Given the description of an element on the screen output the (x, y) to click on. 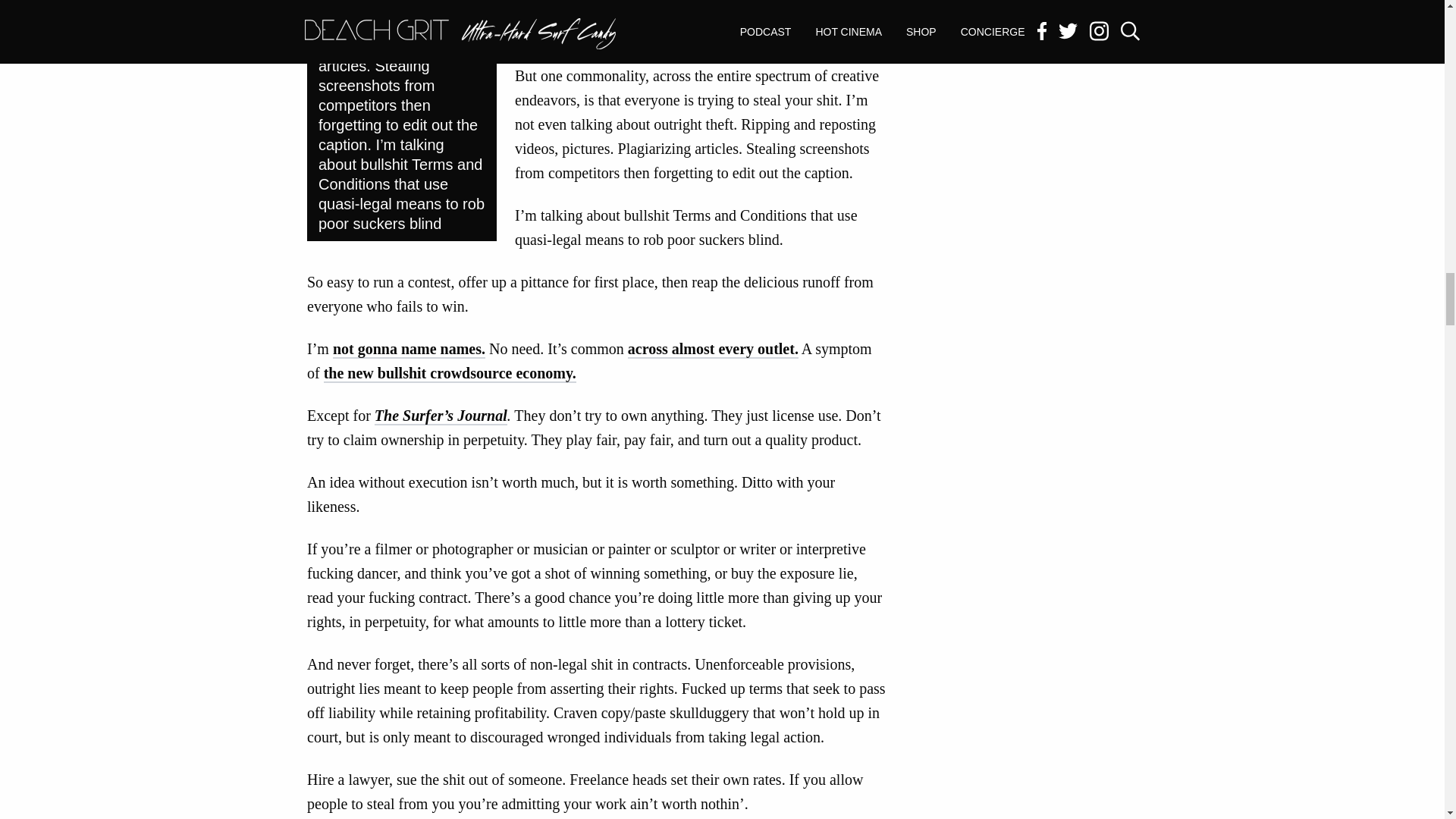
the new bullshit crowdsource economy. (449, 373)
not gonna name names. (408, 349)
across almost every outlet. (712, 349)
